Given the description of an element on the screen output the (x, y) to click on. 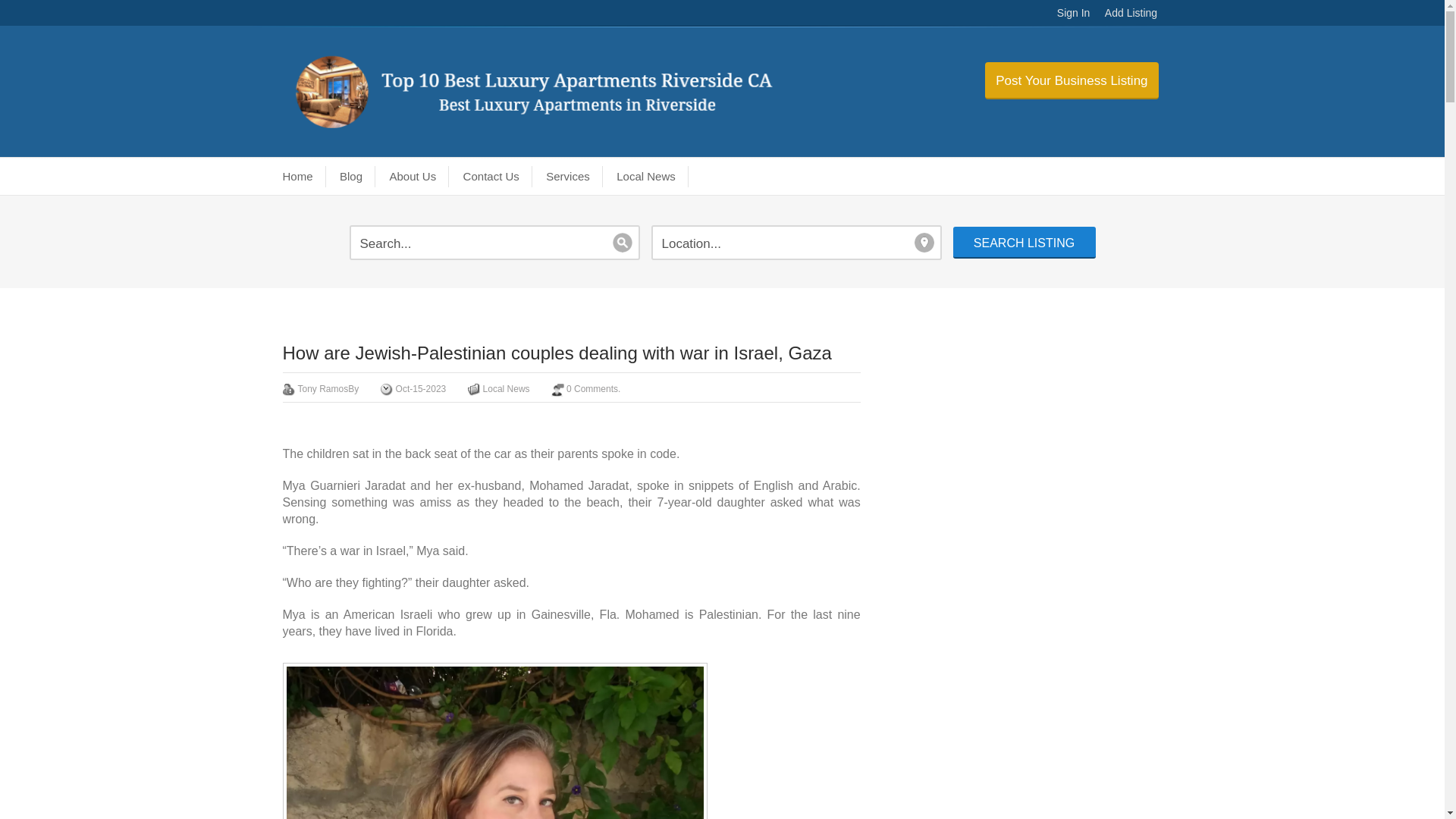
Blog (352, 176)
Contact Us (492, 176)
Local News (506, 388)
Posts by Tony Ramos (322, 388)
Search Listing (1023, 242)
Tony Ramos (322, 388)
About Us (413, 176)
Services (569, 176)
Local News (647, 176)
Home (304, 176)
